Given the description of an element on the screen output the (x, y) to click on. 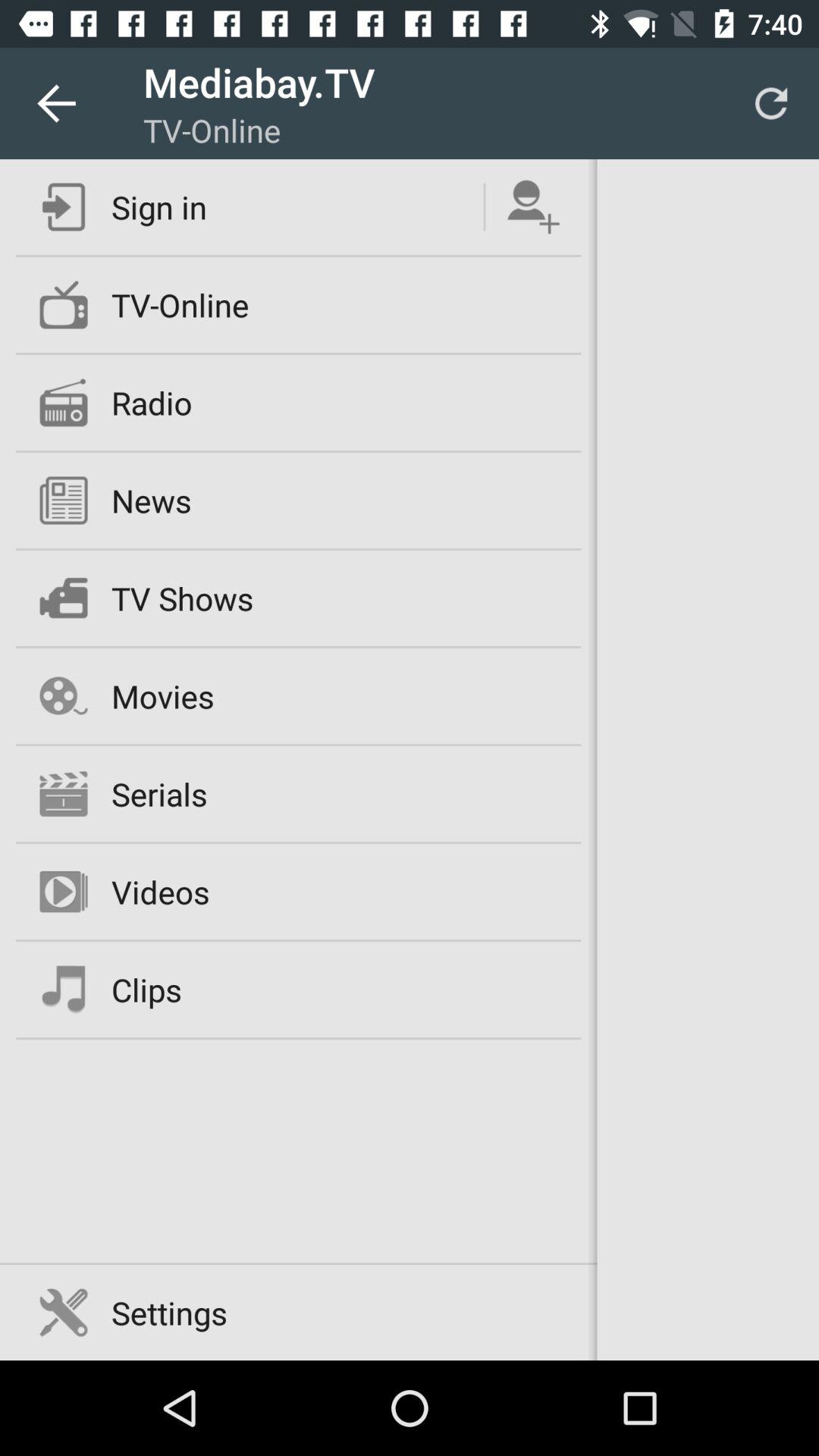
swipe until news icon (151, 500)
